Given the description of an element on the screen output the (x, y) to click on. 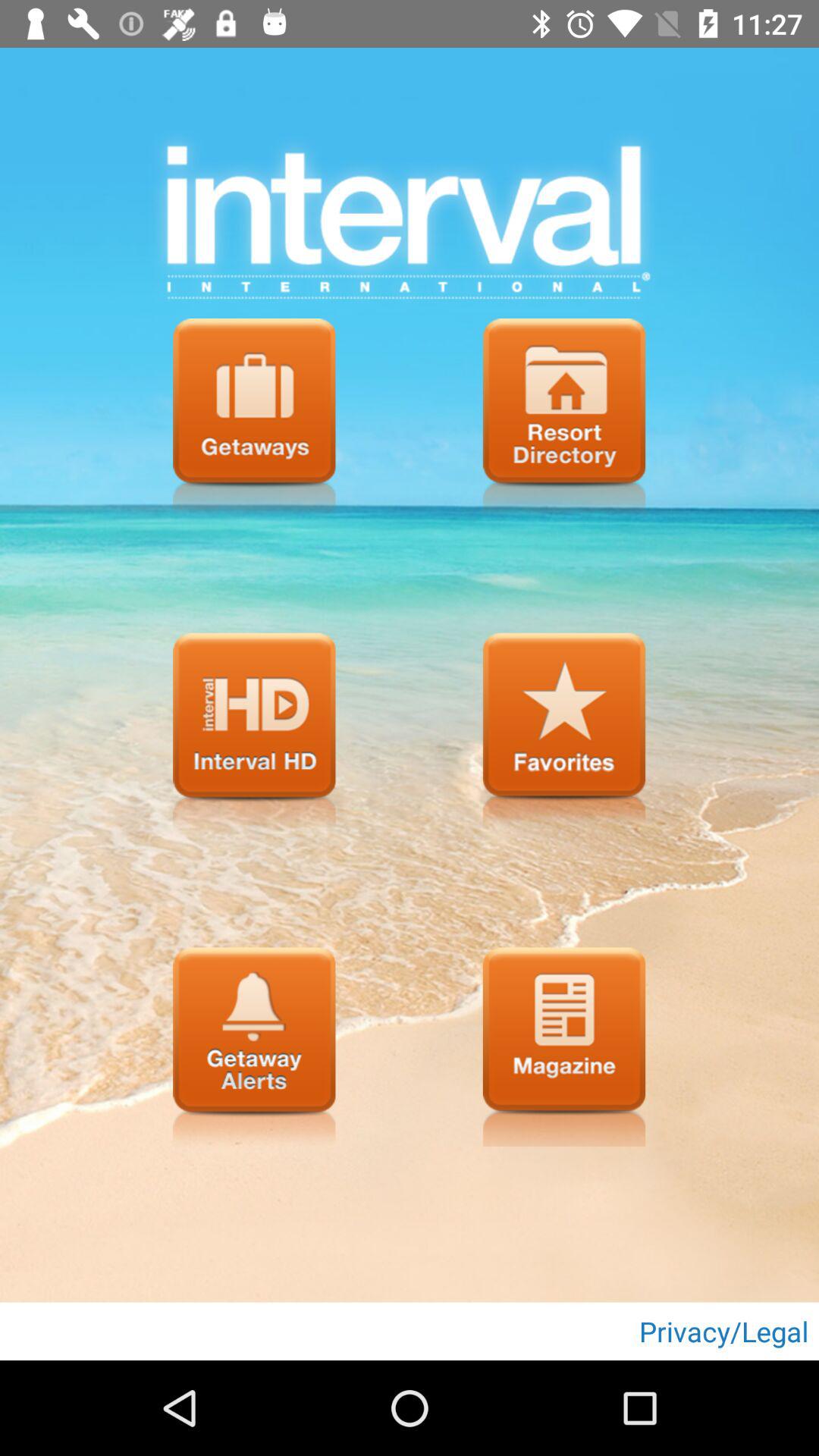
open directory (563, 417)
